Given the description of an element on the screen output the (x, y) to click on. 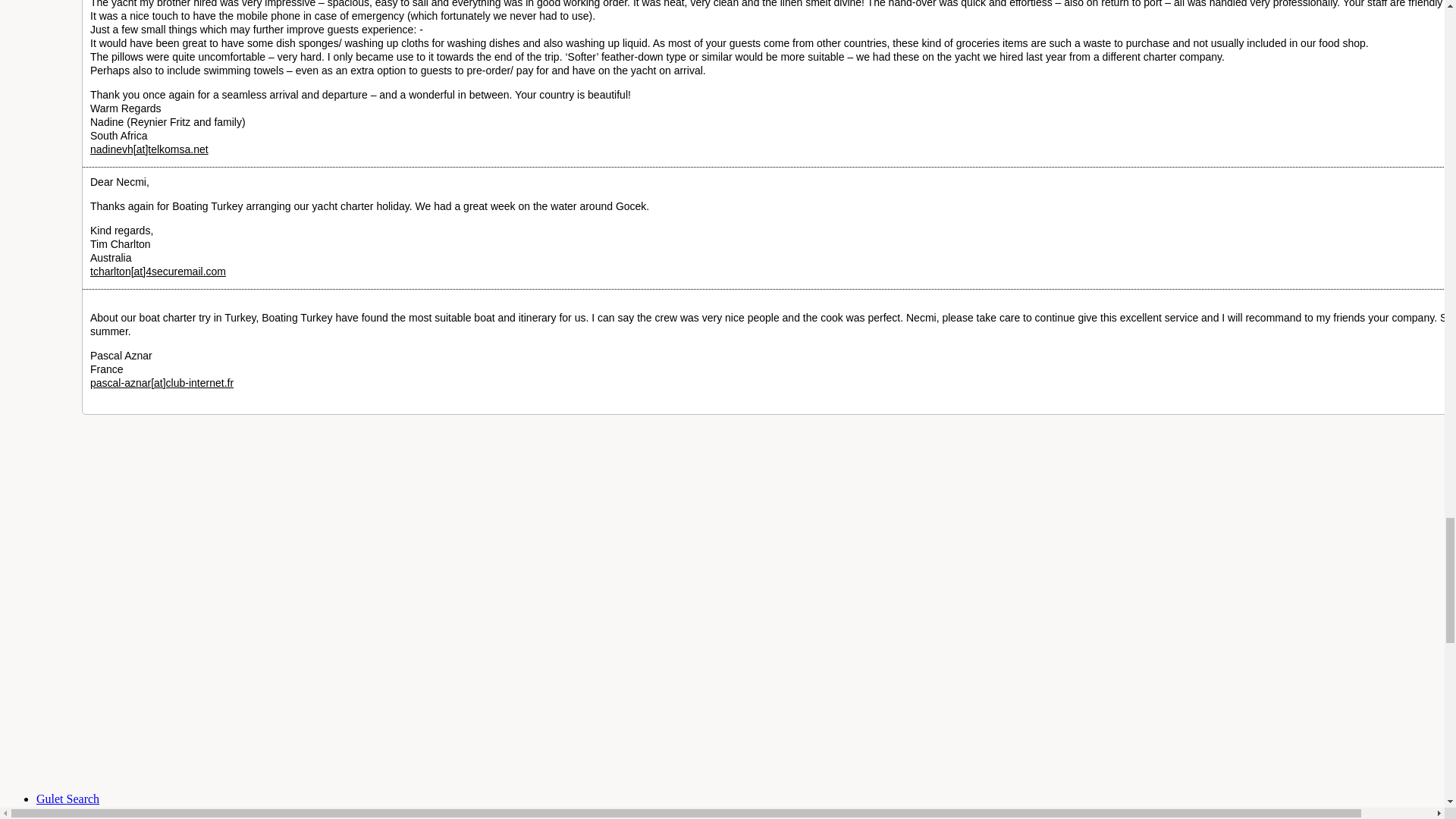
Rent a Bareboat (75, 812)
Gulet Search (67, 798)
Gulet Fleet (67, 798)
Gulet Fleet (75, 812)
